Given the description of an element on the screen output the (x, y) to click on. 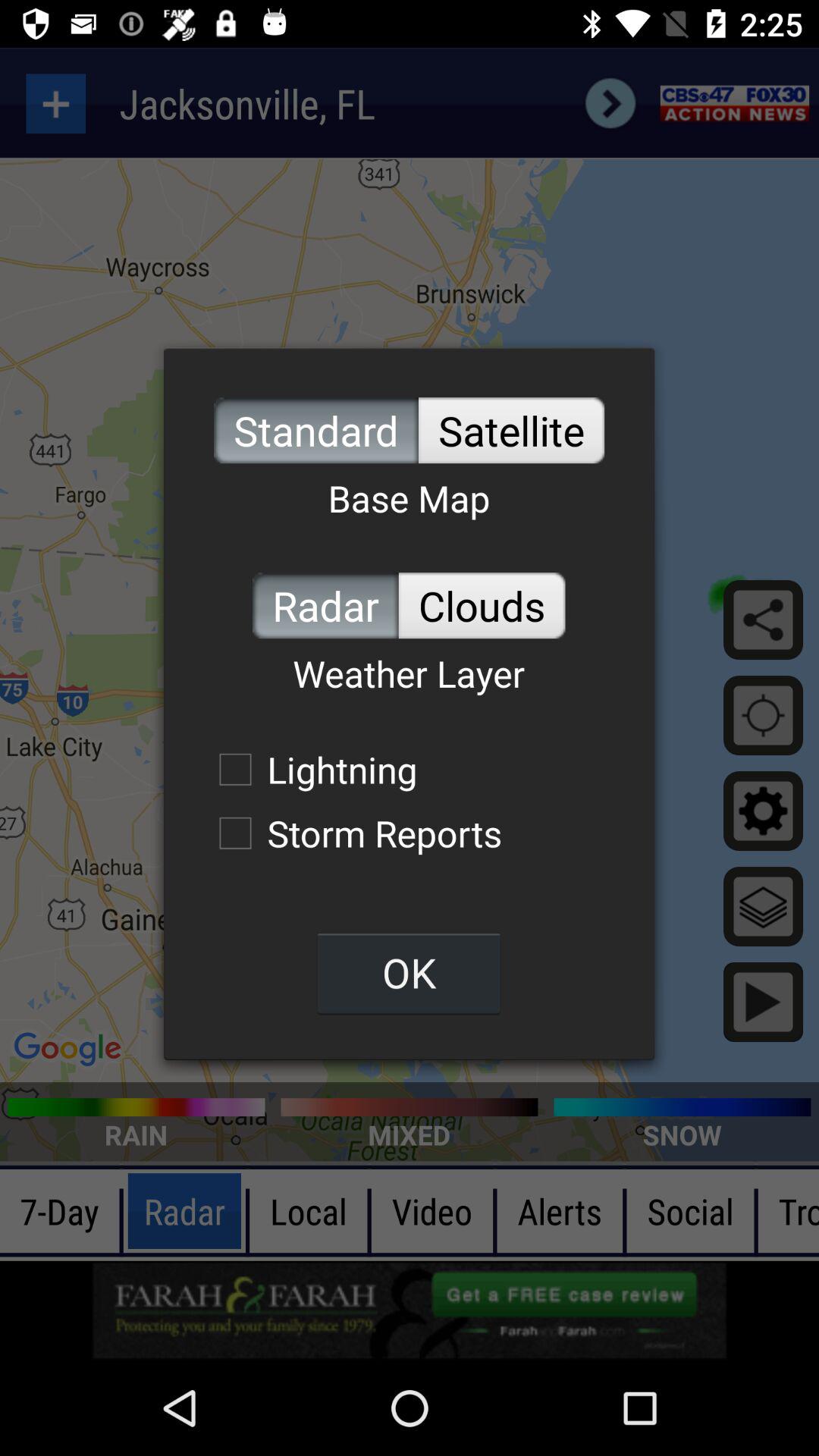
swipe to the radar icon (325, 605)
